Given the description of an element on the screen output the (x, y) to click on. 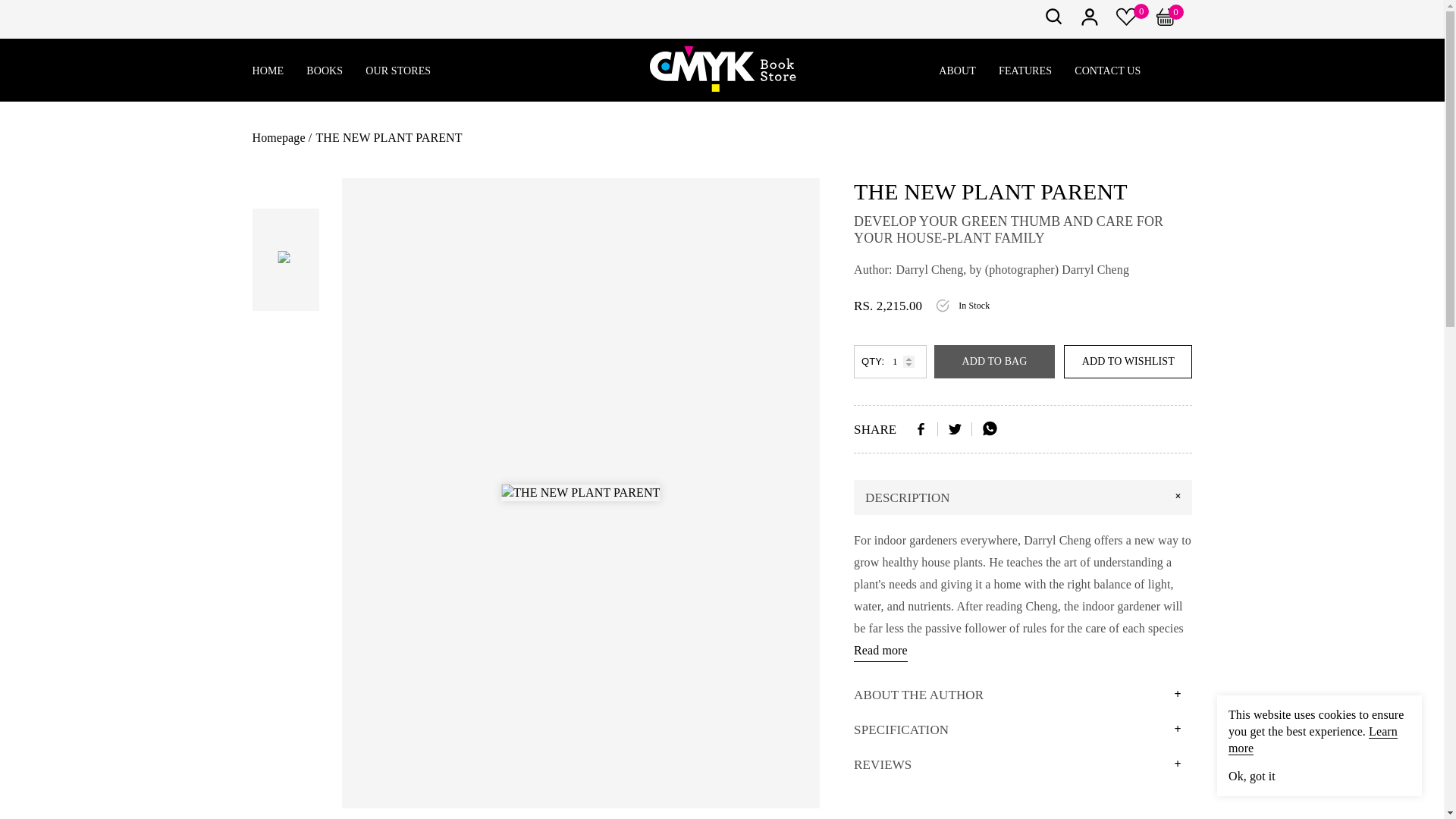
0 (1126, 21)
0 (1174, 21)
HOME (267, 70)
BOOKS (323, 70)
1 (889, 361)
